Given the description of an element on the screen output the (x, y) to click on. 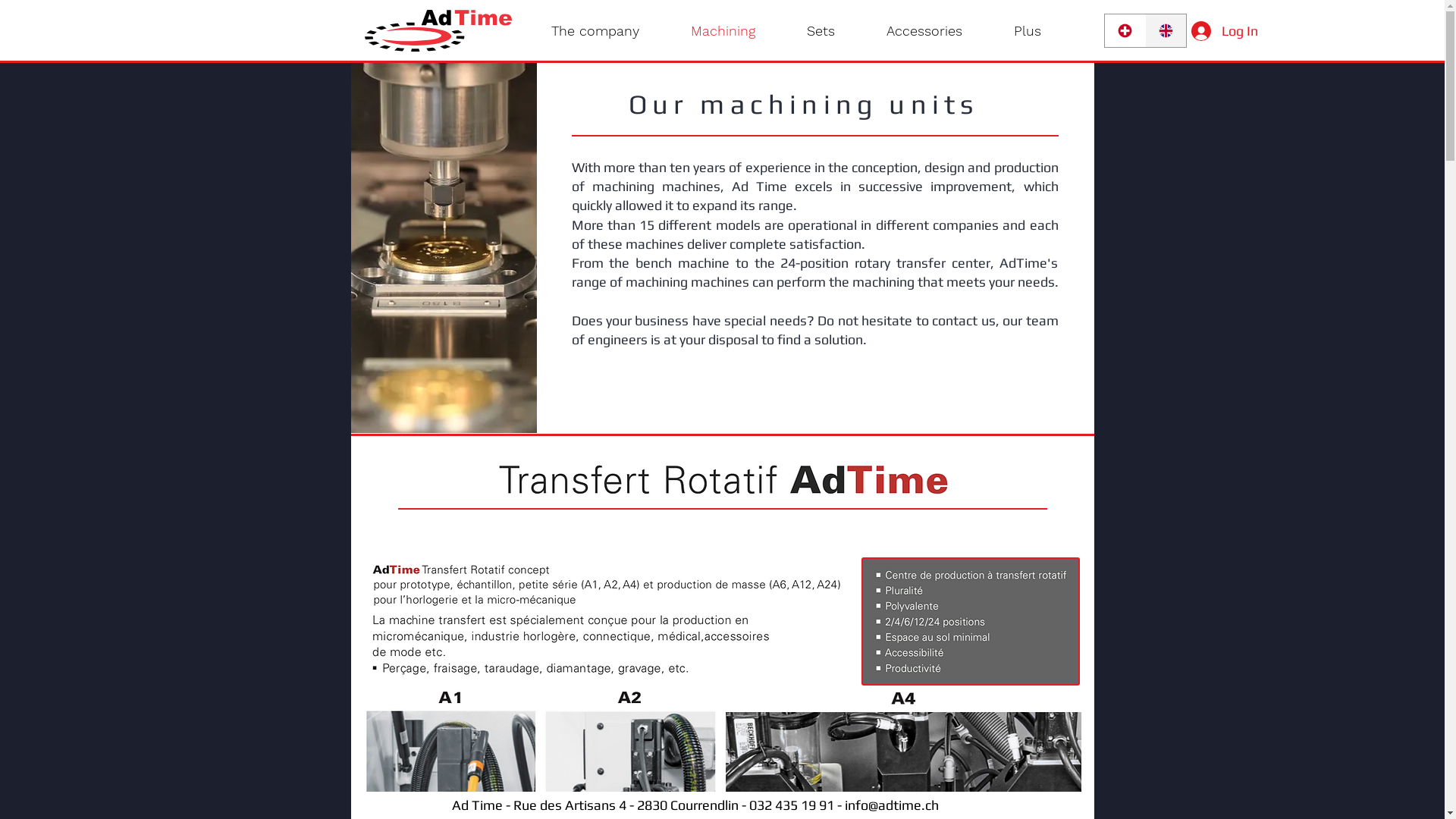
Log In Element type: text (1214, 30)
Sets Element type: text (820, 31)
Accessories Element type: text (923, 31)
The company Element type: text (594, 31)
Machining Element type: text (722, 31)
info@adtime.ch Element type: text (891, 804)
